Given the description of an element on the screen output the (x, y) to click on. 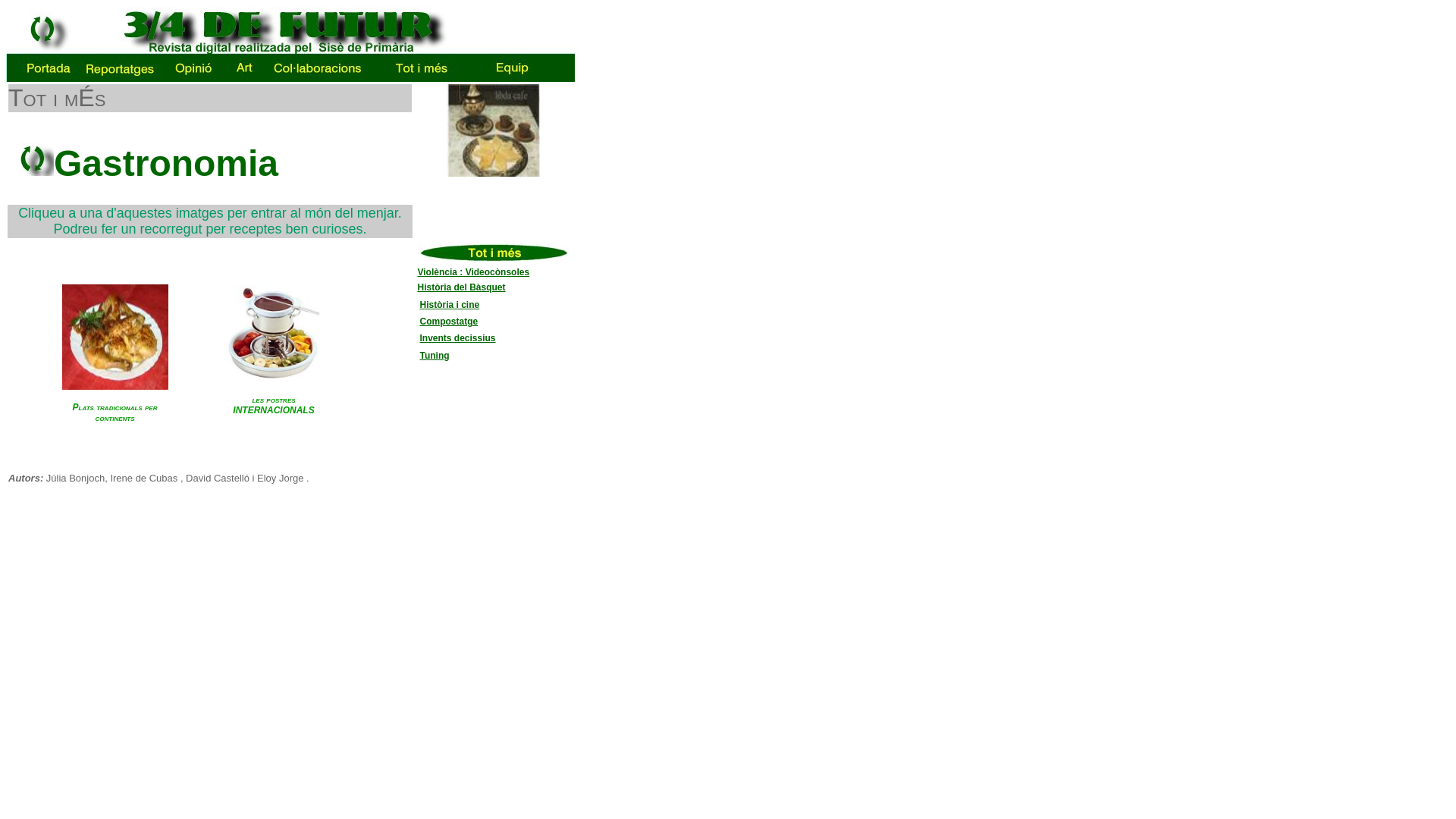
Tuning Element type: text (434, 355)
Invents decissius Element type: text (457, 337)
Compostatge Element type: text (449, 321)
